Given the description of an element on the screen output the (x, y) to click on. 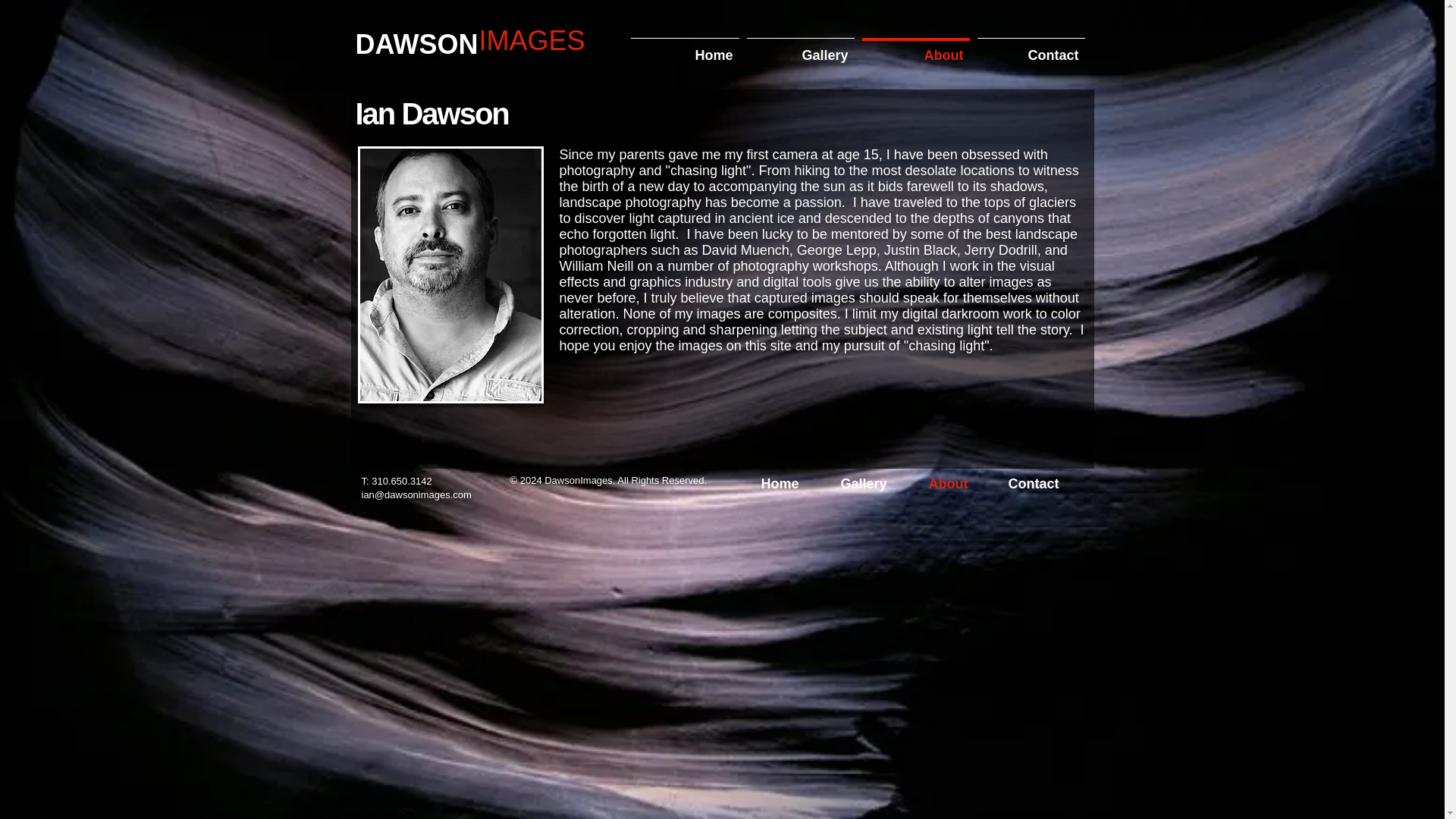
Home (684, 48)
Gallery (800, 48)
Home (788, 484)
About (957, 484)
Contact (1041, 484)
Gallery (873, 484)
About (916, 48)
Contact (1031, 48)
